Given the description of an element on the screen output the (x, y) to click on. 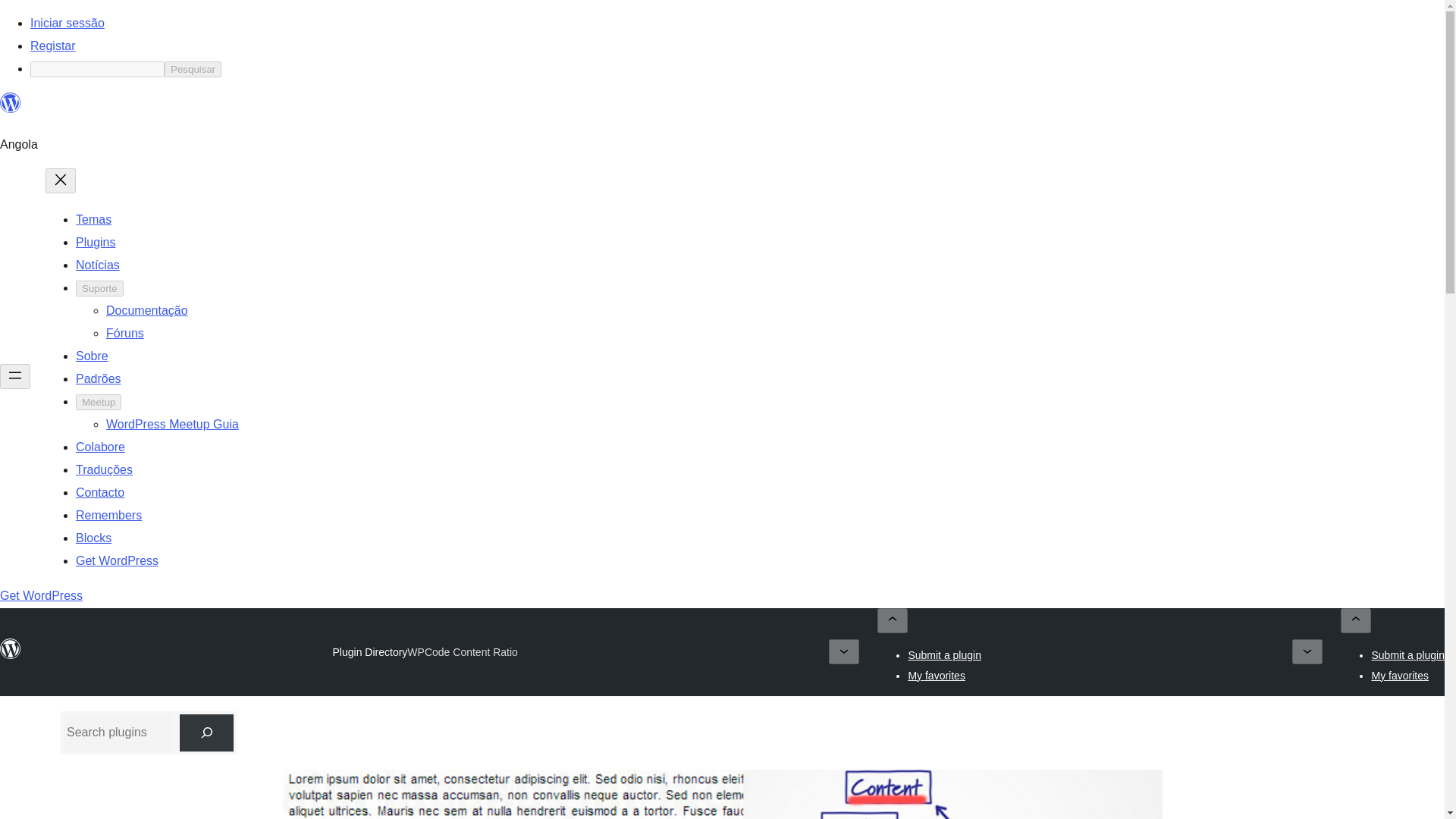
WordPress.org (10, 649)
My favorites (1399, 674)
Pesquisar (192, 68)
My favorites (935, 674)
Get WordPress (41, 594)
Meetup (97, 401)
Temas (93, 219)
Blocks (93, 537)
Contacto (99, 492)
WPCode Content Ratio (462, 652)
Submit a plugin (944, 654)
Pesquisar (192, 68)
Plugins (95, 241)
WordPress.org (10, 109)
WordPress.org (10, 102)
